Given the description of an element on the screen output the (x, y) to click on. 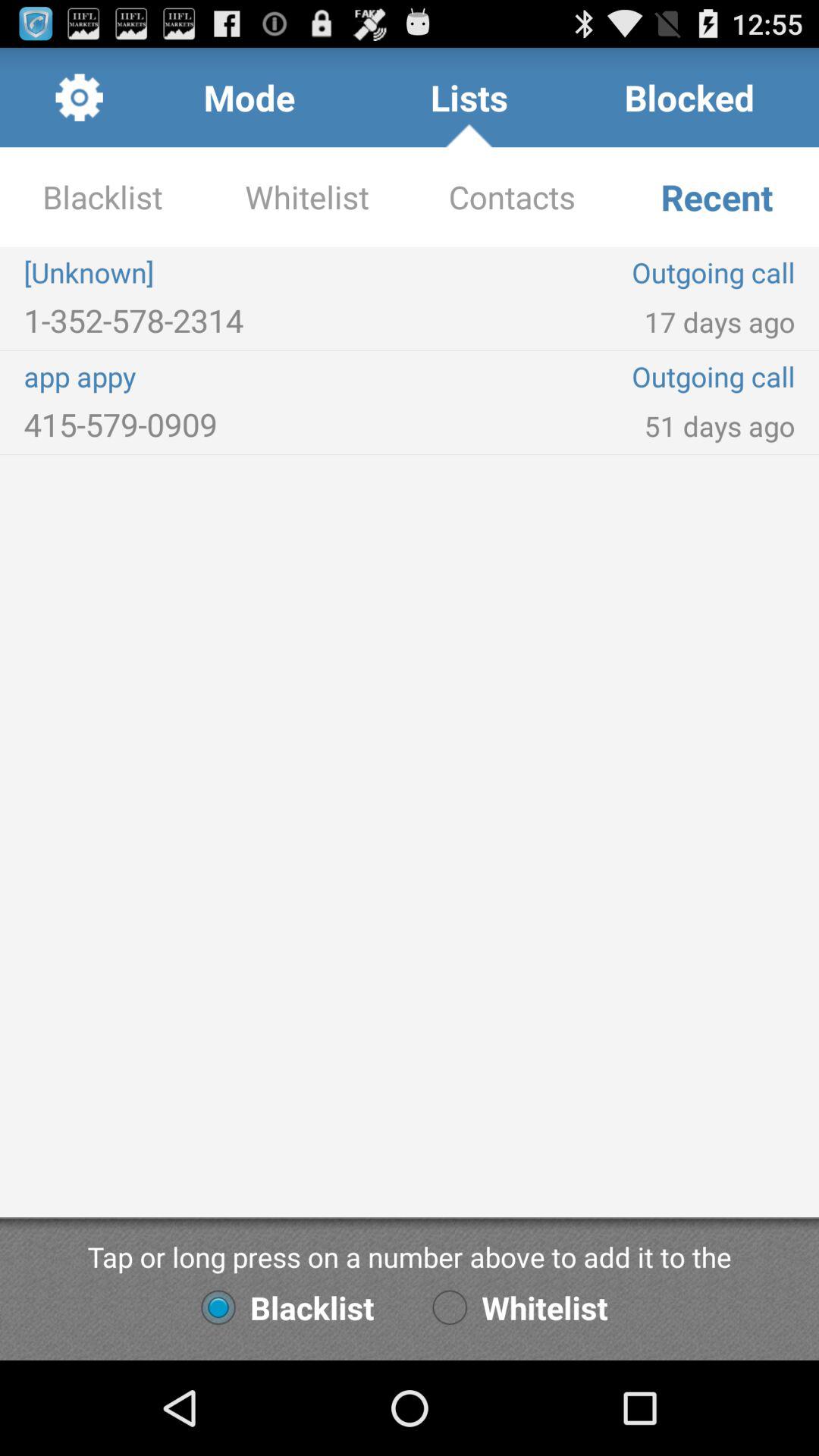
select 1 352 578 app (216, 319)
